Given the description of an element on the screen output the (x, y) to click on. 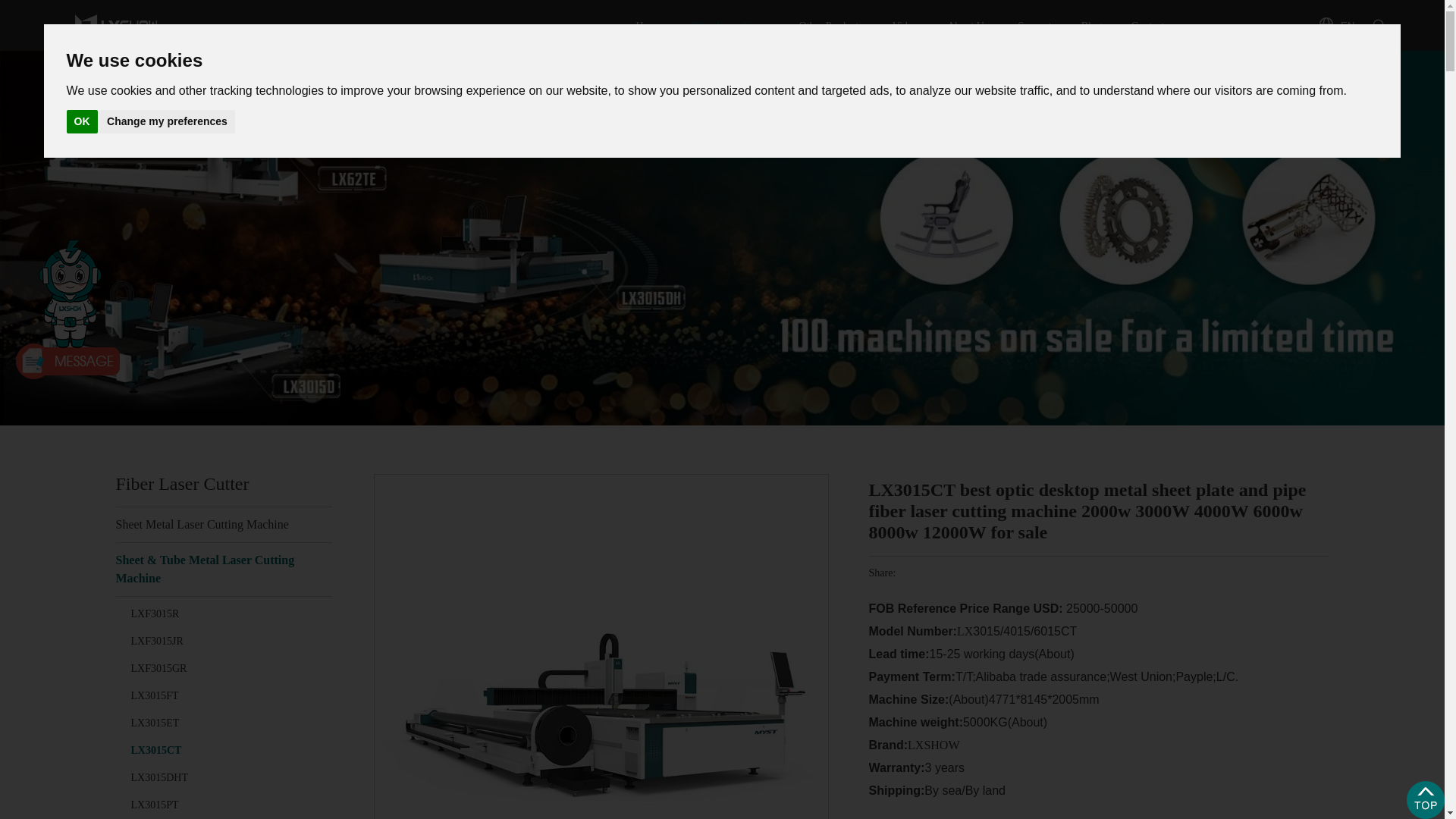
Jinan LXSHOW Laser Equipment Co., Ltd. (117, 24)
Fiber Laser Cutter (730, 28)
OK (81, 121)
Change my preferences (166, 121)
